Given the description of an element on the screen output the (x, y) to click on. 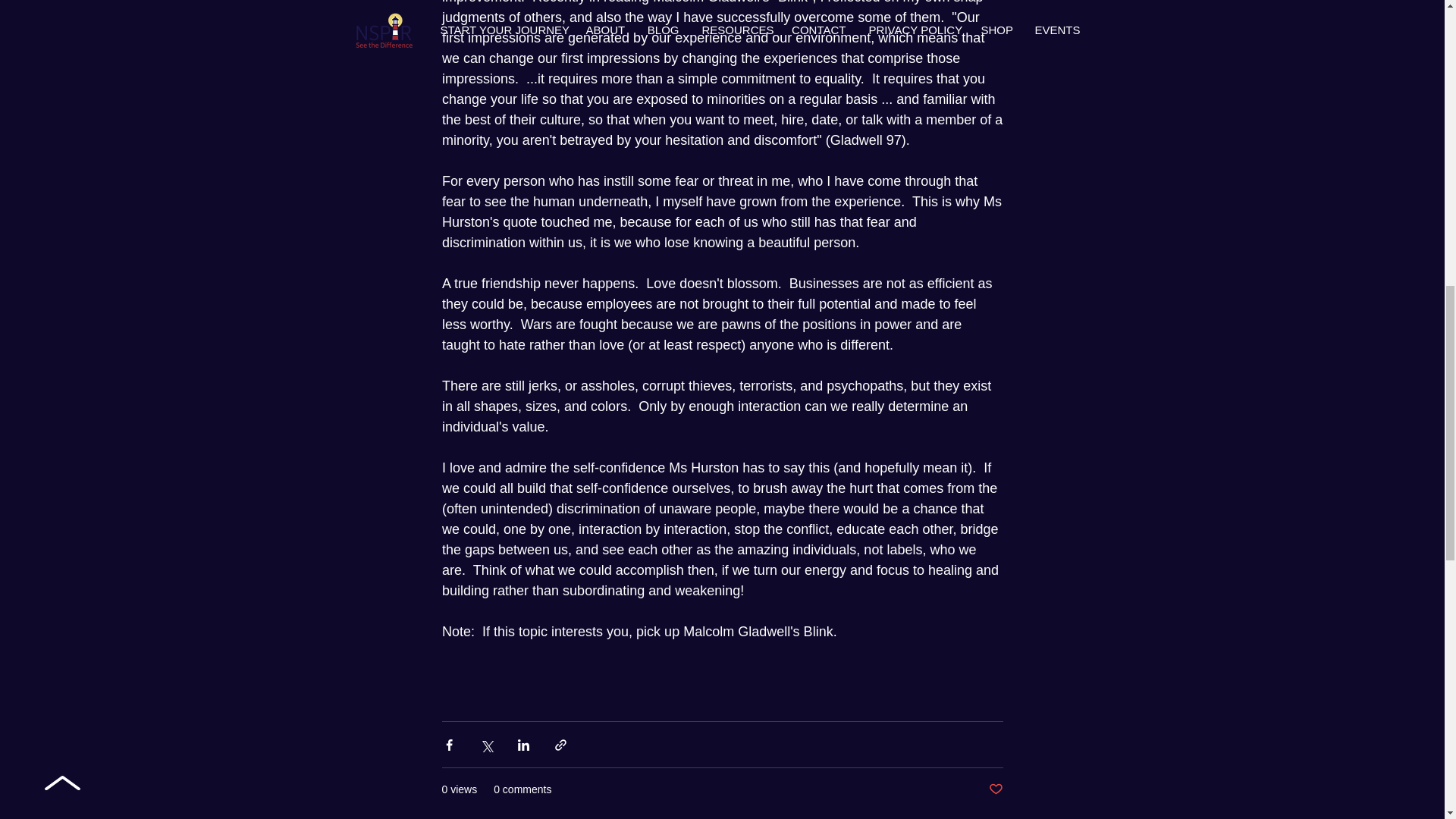
Post not marked as liked (995, 789)
